Given the description of an element on the screen output the (x, y) to click on. 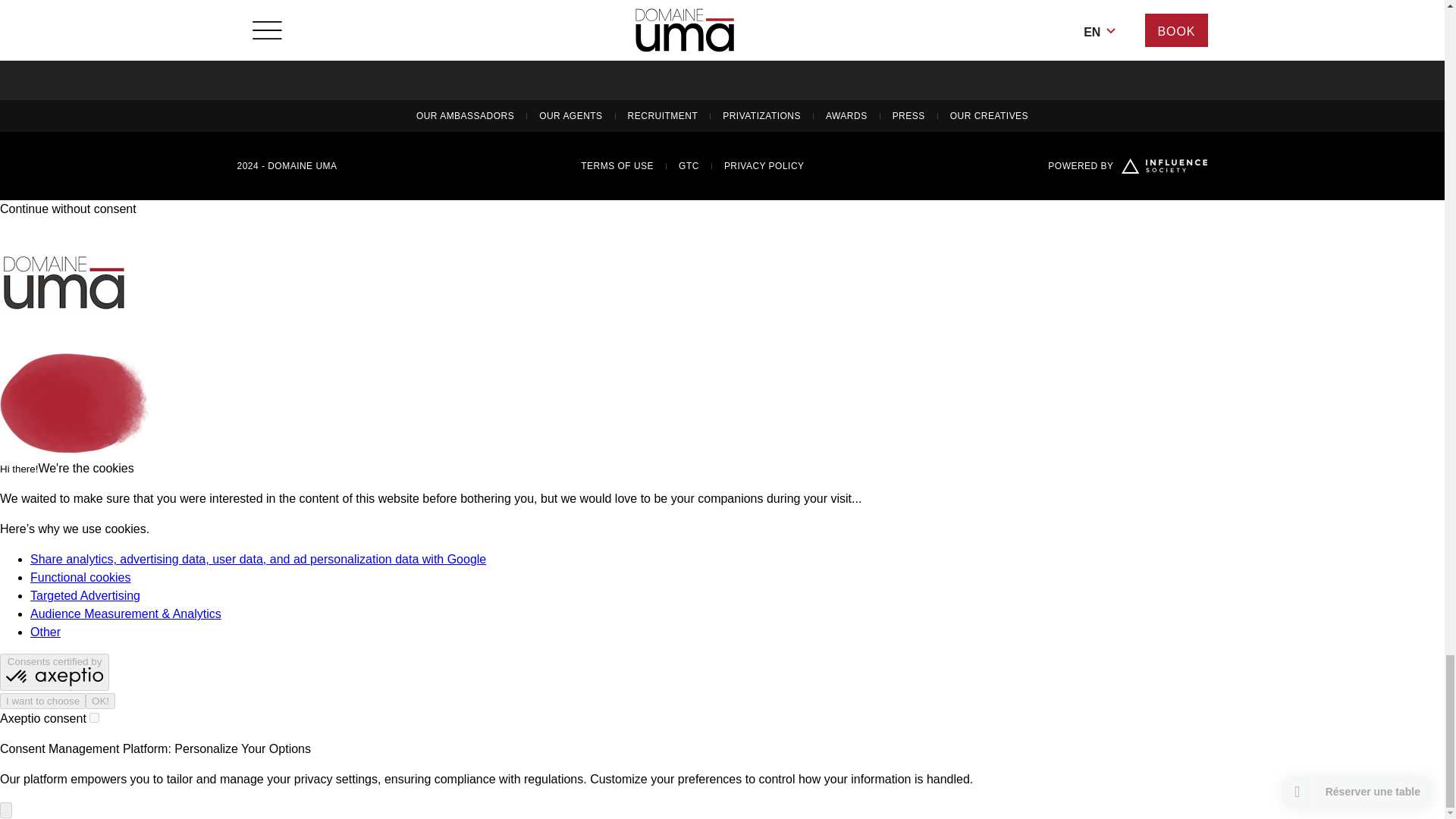
CONTACT US (490, 45)
POWERED BY (1127, 165)
AWARDS (846, 115)
PRIVACY POLICY (764, 165)
TERMS OF USE (616, 165)
OUR AGENTS (570, 115)
OUR CREATIVES (988, 115)
PRESS (908, 115)
OUR AMBASSADORS (464, 115)
RECRUITMENT (662, 115)
GTC (688, 165)
PRIVATIZATIONS (761, 115)
06 14 43 41 76 (490, 25)
